Given the description of an element on the screen output the (x, y) to click on. 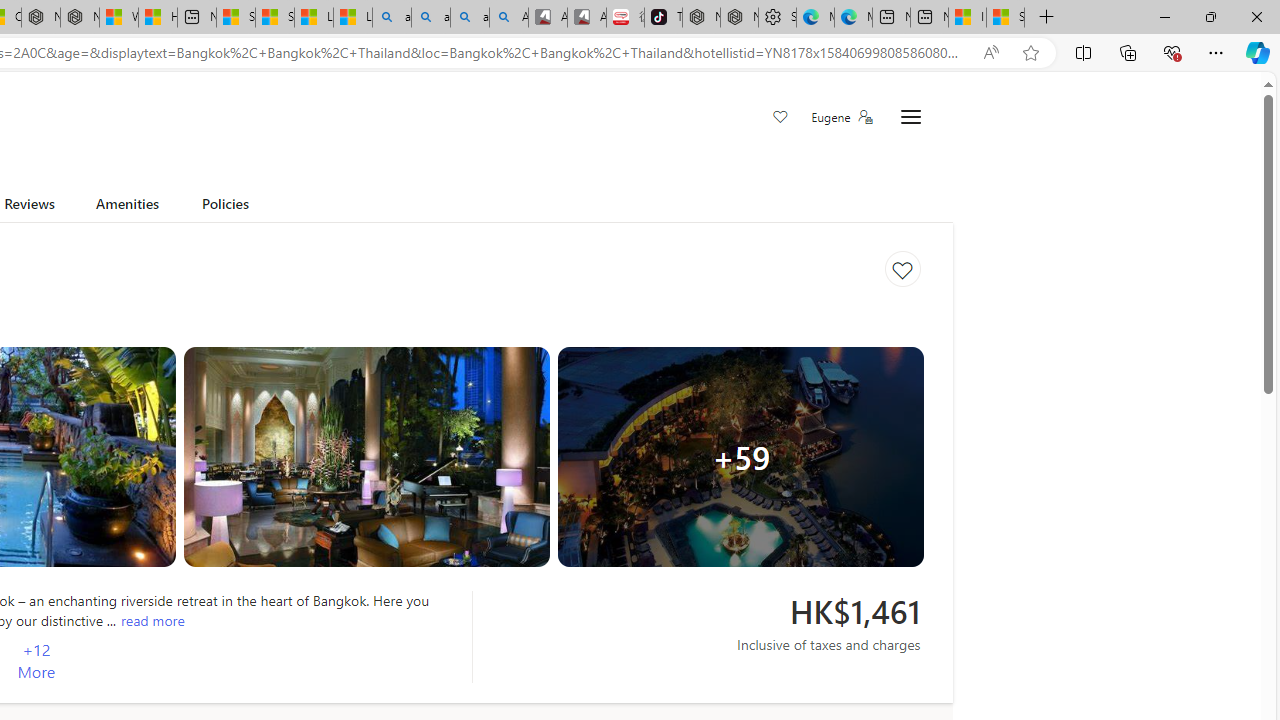
Settings (777, 17)
+12 More Amenities (36, 661)
Save (780, 118)
Minimize (1164, 16)
Wildlife - MSN (118, 17)
Nordace - Summer Adventures 2024 (79, 17)
amazon - Search (431, 17)
Add this page to favorites (Ctrl+D) (1030, 53)
Amenities (126, 207)
Browser essentials (1171, 52)
Copilot (Ctrl+Shift+.) (1258, 52)
